Given the description of an element on the screen output the (x, y) to click on. 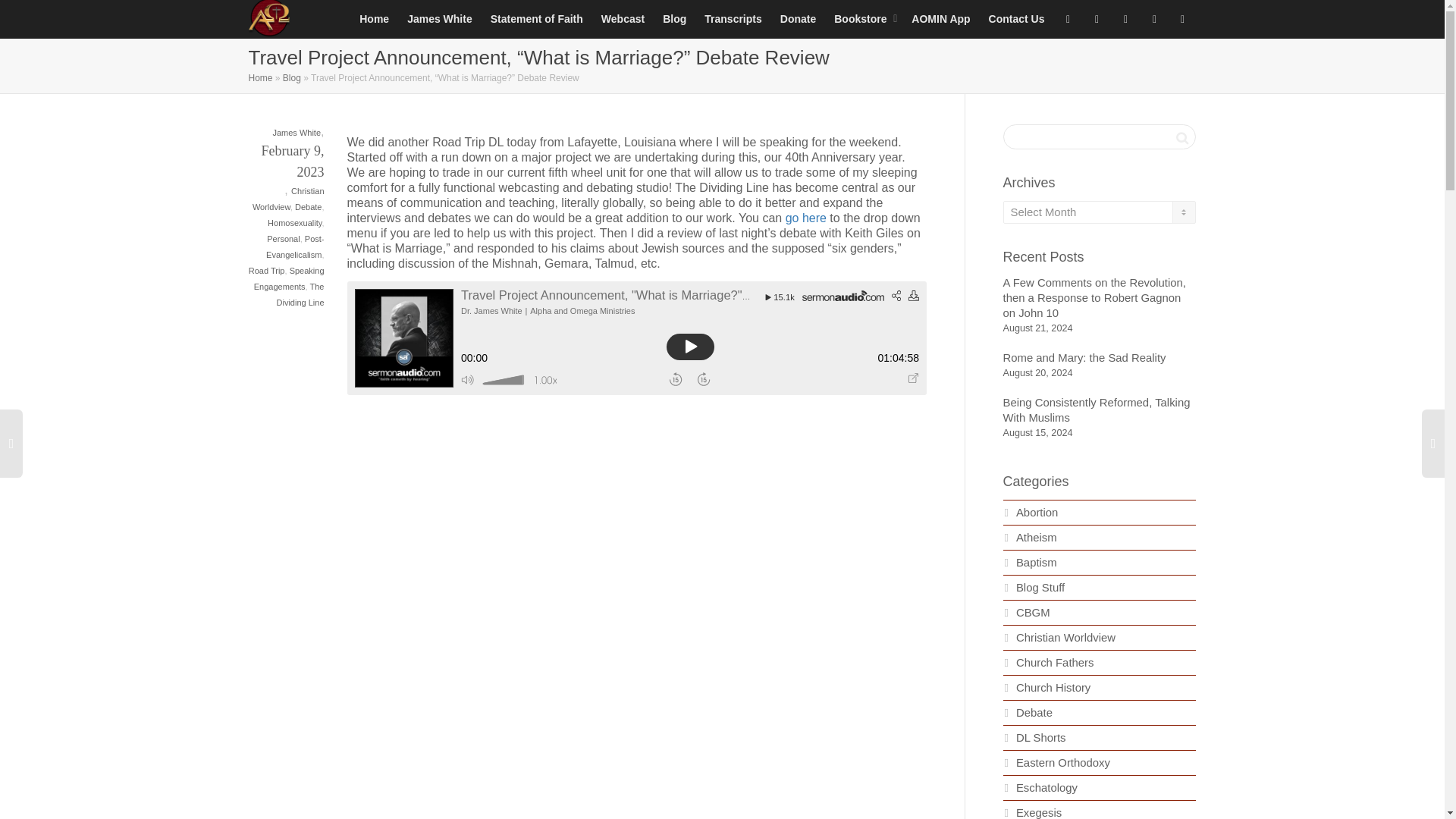
Search (1181, 137)
Debate (308, 206)
Christian Worldview (287, 198)
Personal (282, 238)
Home (260, 77)
February 9, 2023 (286, 173)
Search (1181, 137)
James White (439, 18)
Statement of Faith (536, 18)
Webcast (623, 18)
